Given the description of an element on the screen output the (x, y) to click on. 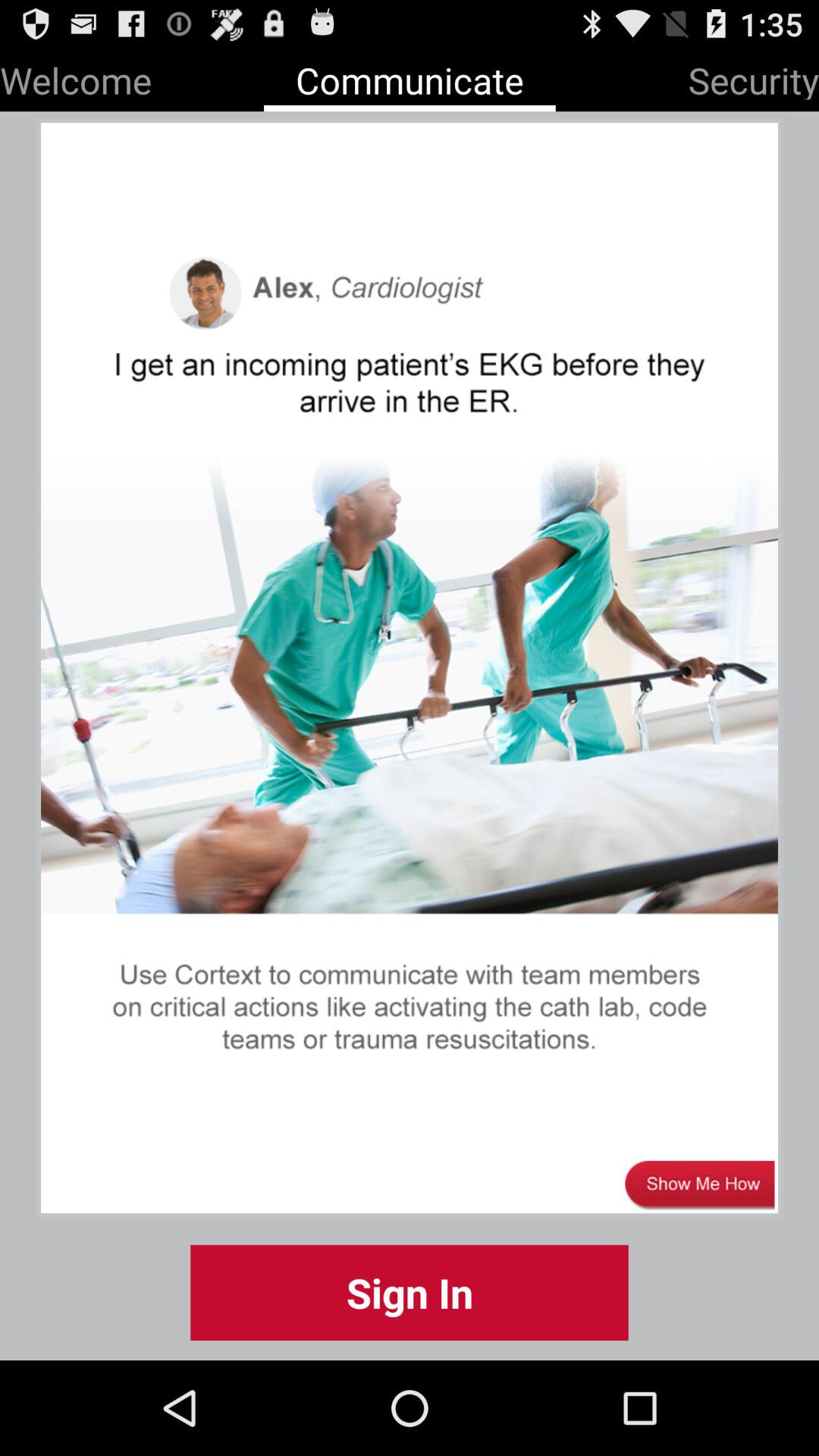
open app next to communicate (75, 77)
